Given the description of an element on the screen output the (x, y) to click on. 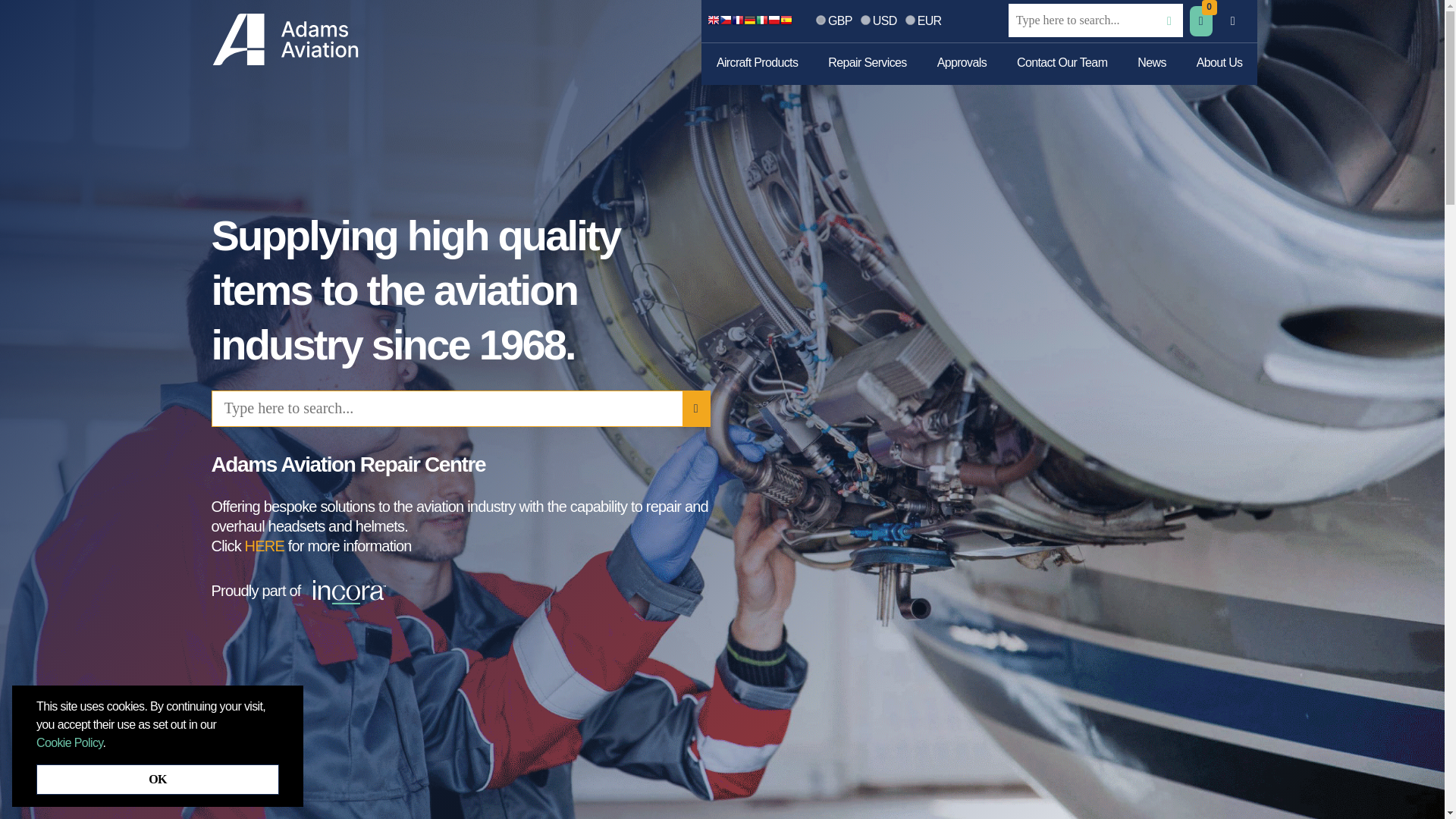
Aircraft Products (757, 64)
eur (910, 20)
gbp (820, 20)
usd (865, 20)
